Given the description of an element on the screen output the (x, y) to click on. 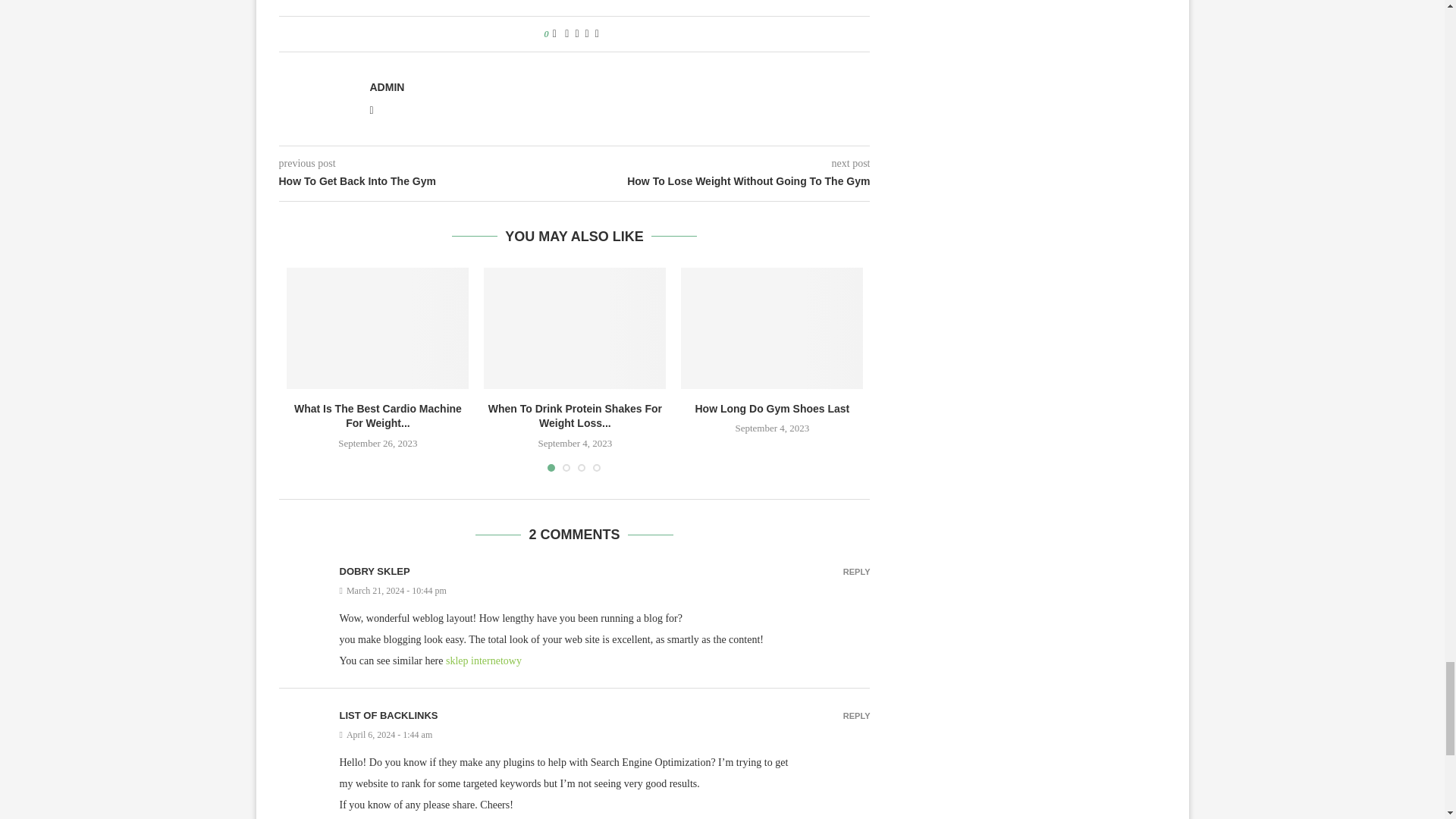
Author admin (386, 87)
What Is The Best Cardio Machine For Weight Loss (377, 328)
How Long Do Gym Shoes Last (772, 328)
When To Drink Protein Shakes For Weight Loss Female (574, 328)
